Given the description of an element on the screen output the (x, y) to click on. 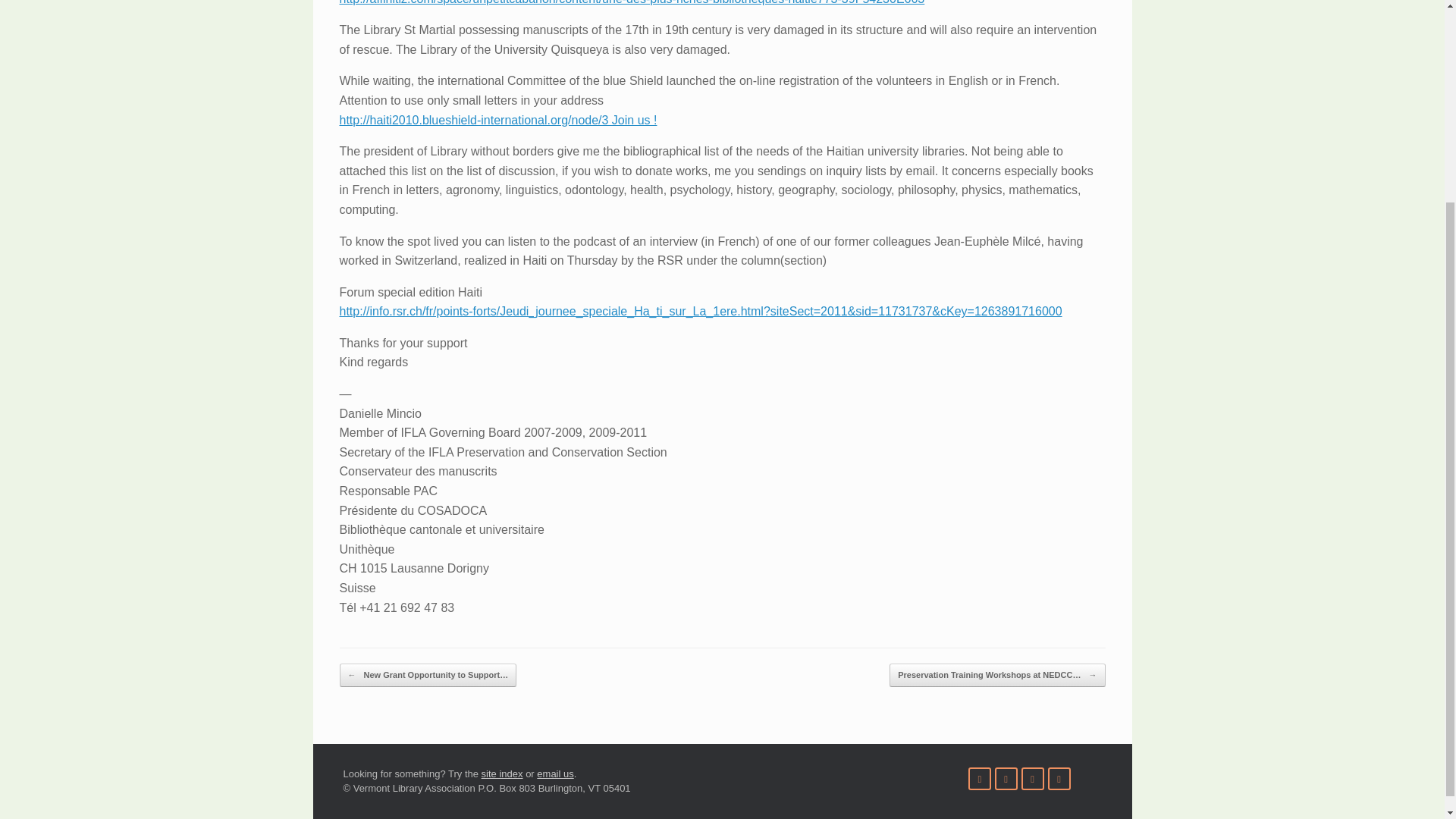
Vermont Library Association on Linkedin (1032, 778)
Vermont Library Association on Instagram (1059, 778)
email us (555, 773)
Vermont Library Association on X Twitter (979, 778)
Vermont Library Association on  (1083, 777)
site index (501, 773)
Vermont Library Association on Facebook (1005, 778)
